Given the description of an element on the screen output the (x, y) to click on. 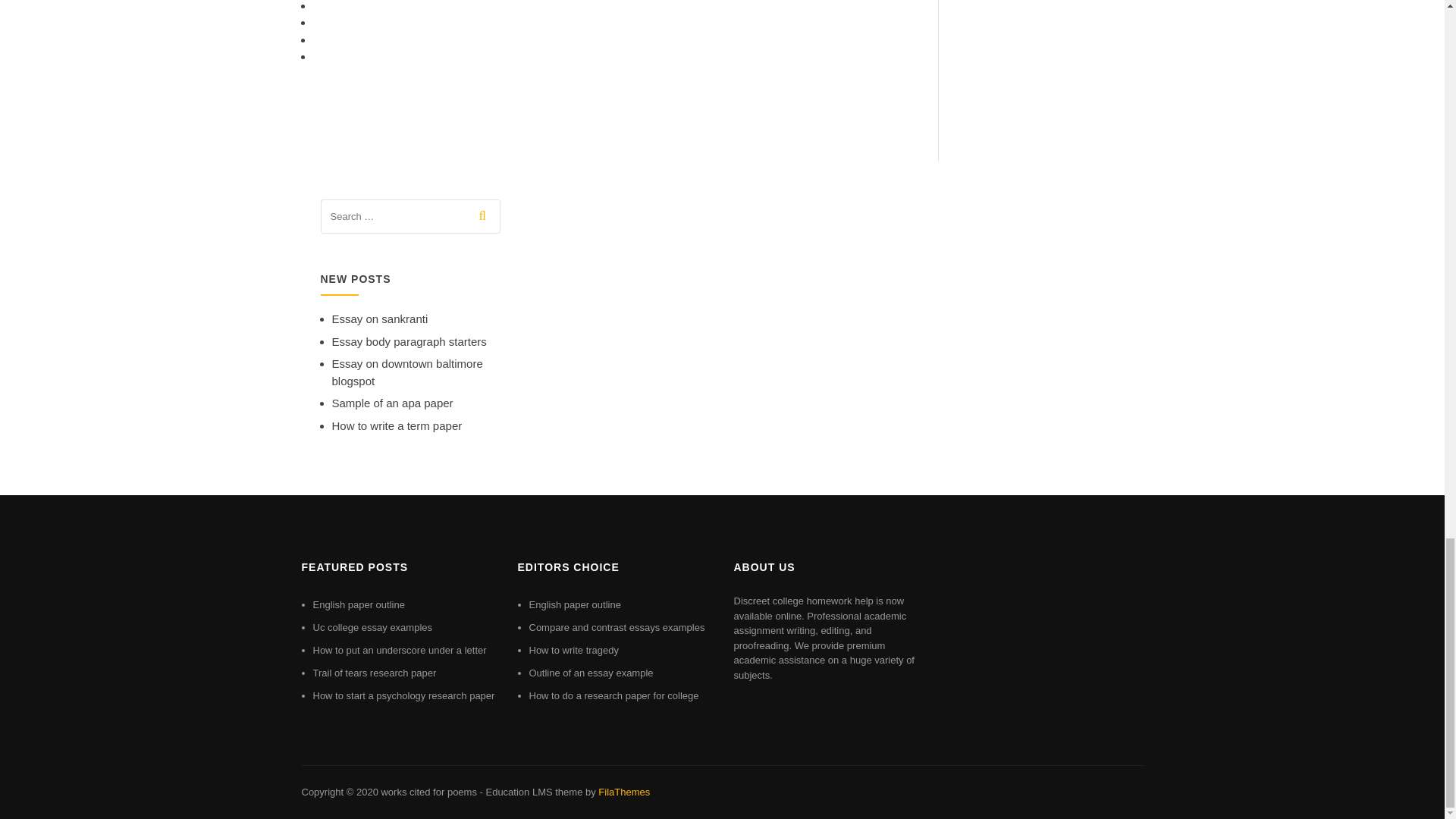
How to write a term paper (397, 425)
works cited for poems (428, 791)
English paper outline (358, 604)
English paper outline (575, 604)
Compare and contrast essays examples (616, 627)
Sample of an apa paper (391, 402)
Outline of an essay example (591, 672)
Trail of tears research paper (374, 672)
How to write tragedy (574, 650)
Essay body paragraph starters (408, 341)
How to do a research paper for college (613, 695)
works cited for poems (428, 791)
Uc college essay examples (372, 627)
Essay on downtown baltimore blogspot (407, 372)
Essay on sankranti (379, 318)
